Given the description of an element on the screen output the (x, y) to click on. 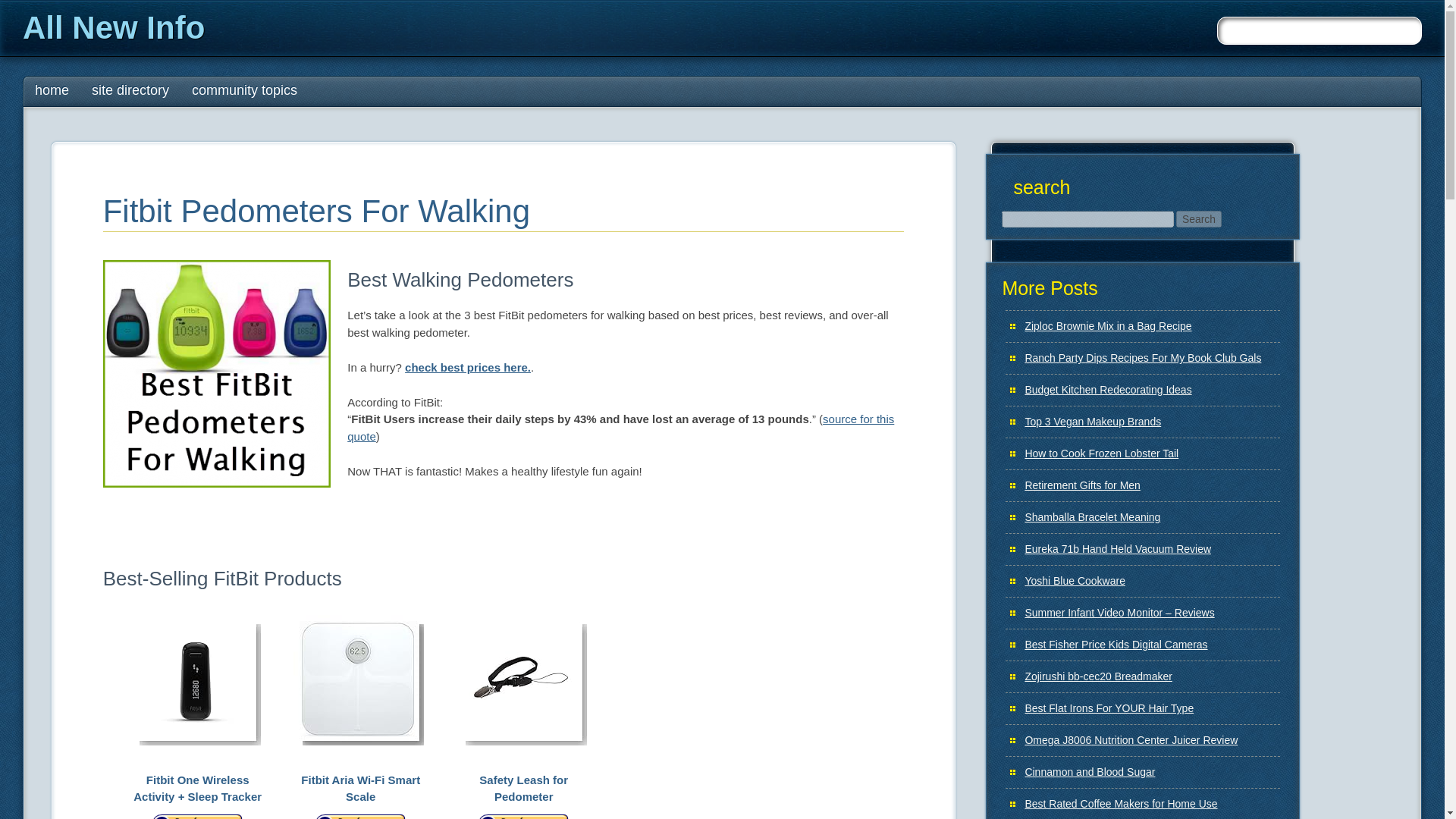
Shamballa Bracelet Meaning (1092, 517)
Eureka 71b Hand Held Vacuum Review (1118, 548)
Search (22, 8)
site directory (130, 91)
Budget Kitchen Redecorating Ideas (1108, 389)
Zojirushi bb-cec20 Breadmaker (1098, 676)
Skip to content (55, 84)
check best prices here. (467, 367)
Ziploc Brownie Mix in a Bag Recipe (1108, 326)
How to Cook Frozen Lobster Tail (1101, 453)
Omega J8006 Nutrition Center Juicer Review (1131, 739)
Skip to content (55, 84)
Search (1198, 218)
Ranch Party Dips Recipes For My Book Club Gals (1142, 357)
Search (1198, 218)
